Given the description of an element on the screen output the (x, y) to click on. 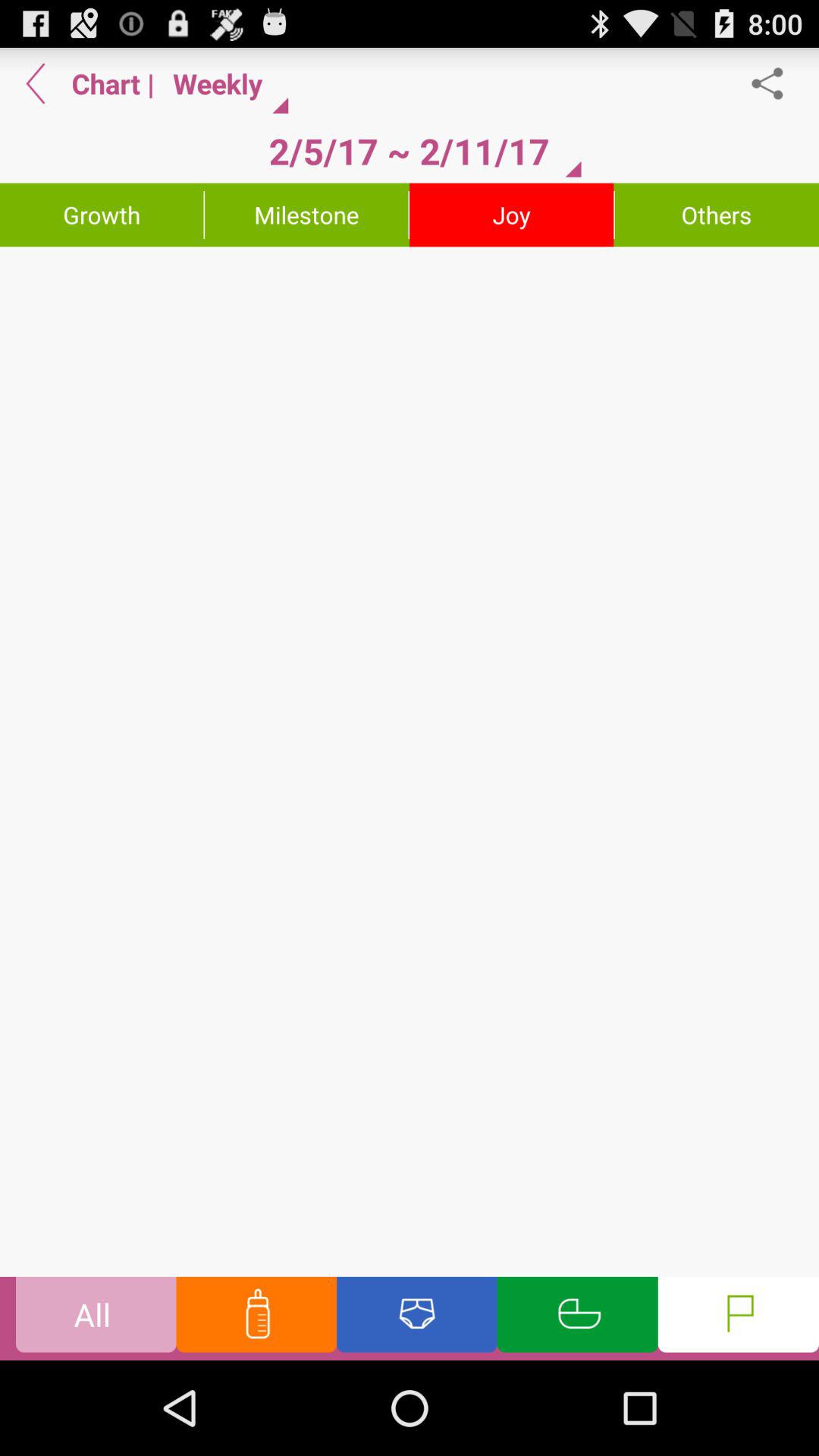
open diaper tab (416, 1318)
